Given the description of an element on the screen output the (x, y) to click on. 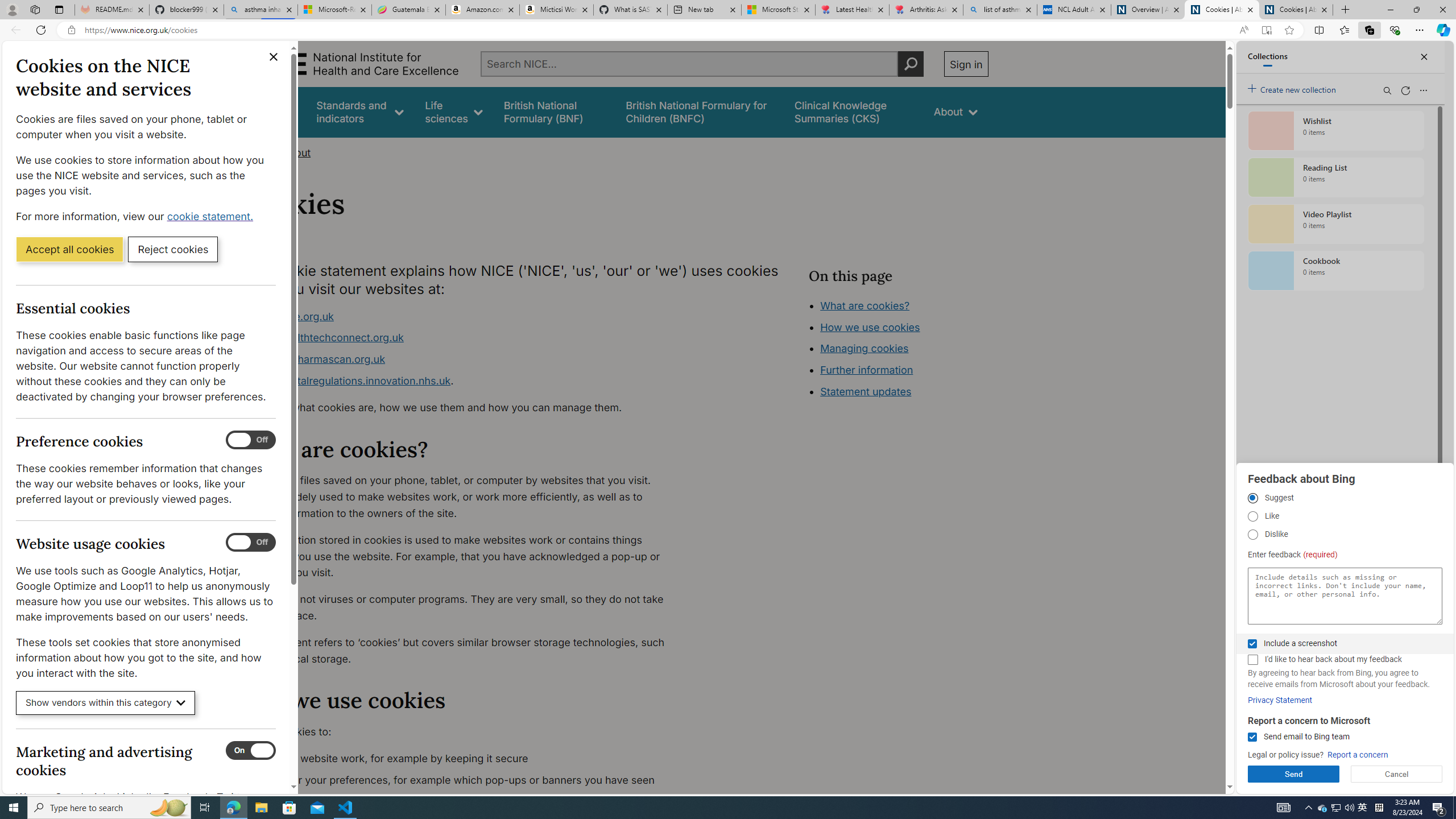
NCL Adult Asthma Inhaler Choice Guideline (1073, 9)
Perform search (909, 63)
list of asthma inhalers uk - Search (1000, 9)
Enter Immersive Reader (F9) (1266, 29)
Preference cookies (250, 439)
Statement updates (865, 391)
Cancel (1396, 773)
make our website work, for example by keeping it secure (464, 759)
